Given the description of an element on the screen output the (x, y) to click on. 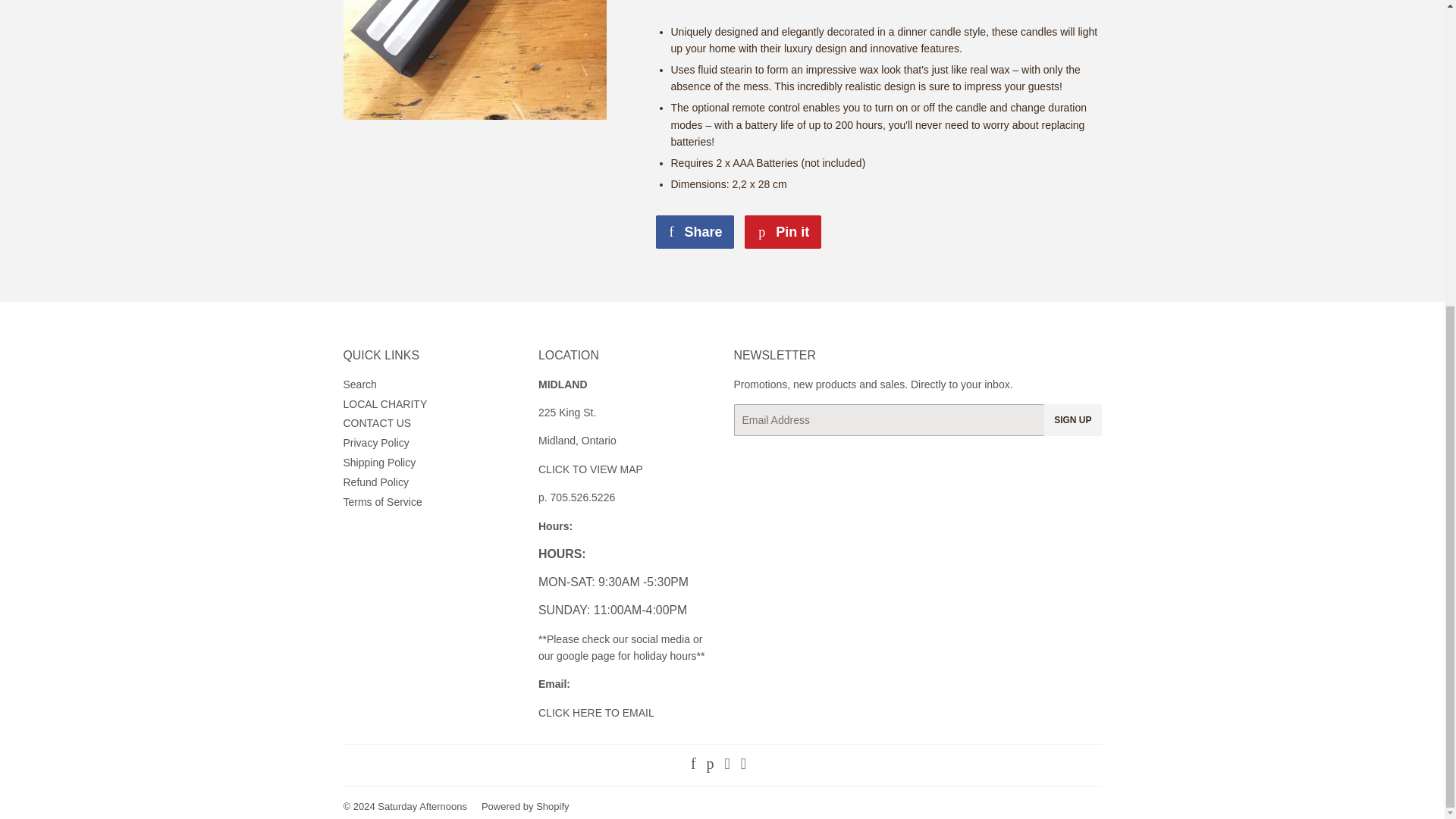
Search (358, 384)
Saturday Afternoons on Google (782, 231)
CONTACT US (726, 765)
Saturday Afternoons on Instagram (376, 422)
Pin on Pinterest (743, 765)
Shipping Policy (782, 231)
Share on Facebook (378, 462)
LOCAL CHARITY (694, 231)
Privacy Policy (694, 231)
Saturday Afternoons on Pinterest (384, 404)
Saturday Afternoons on Facebook (375, 442)
